Given the description of an element on the screen output the (x, y) to click on. 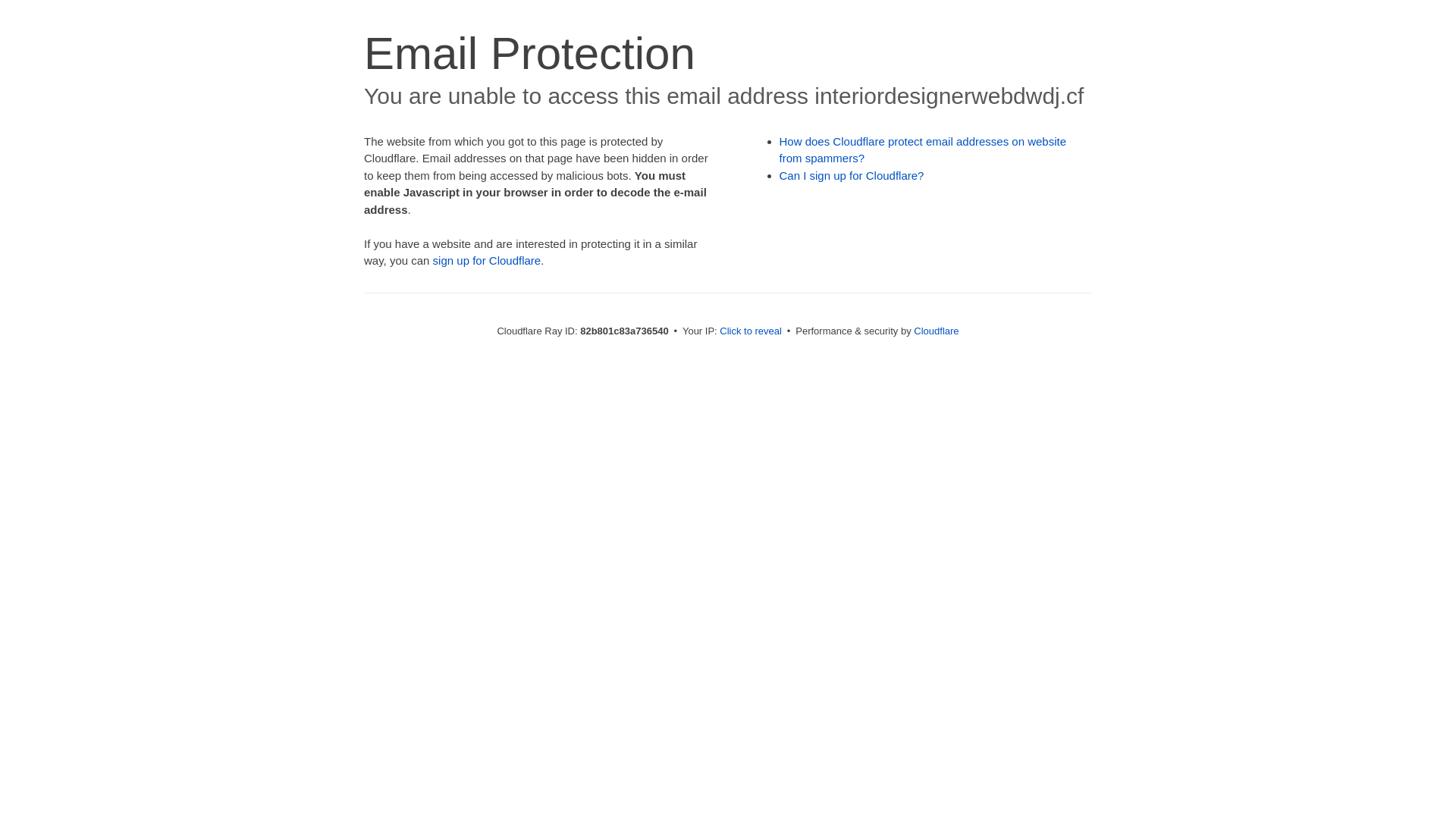
Cloudflare Element type: text (935, 330)
Can I sign up for Cloudflare? Element type: text (851, 175)
sign up for Cloudflare Element type: text (487, 260)
Click to reveal Element type: text (750, 330)
